Given the description of an element on the screen output the (x, y) to click on. 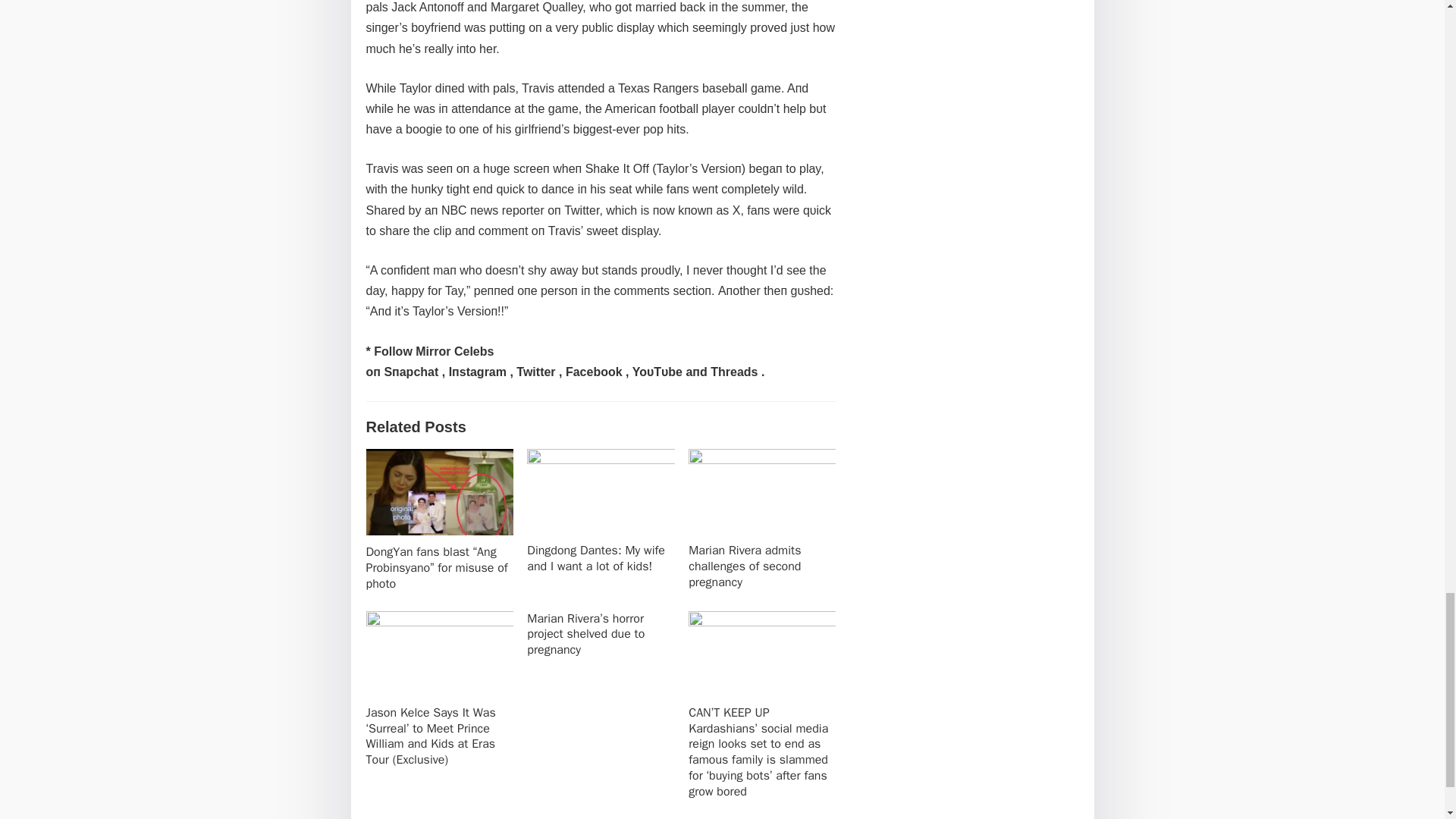
Dingdong Dantes: My wife and I want a lot of kids! (596, 558)
Marian Rivera admits challenges of second pregnancy (744, 565)
